Given the description of an element on the screen output the (x, y) to click on. 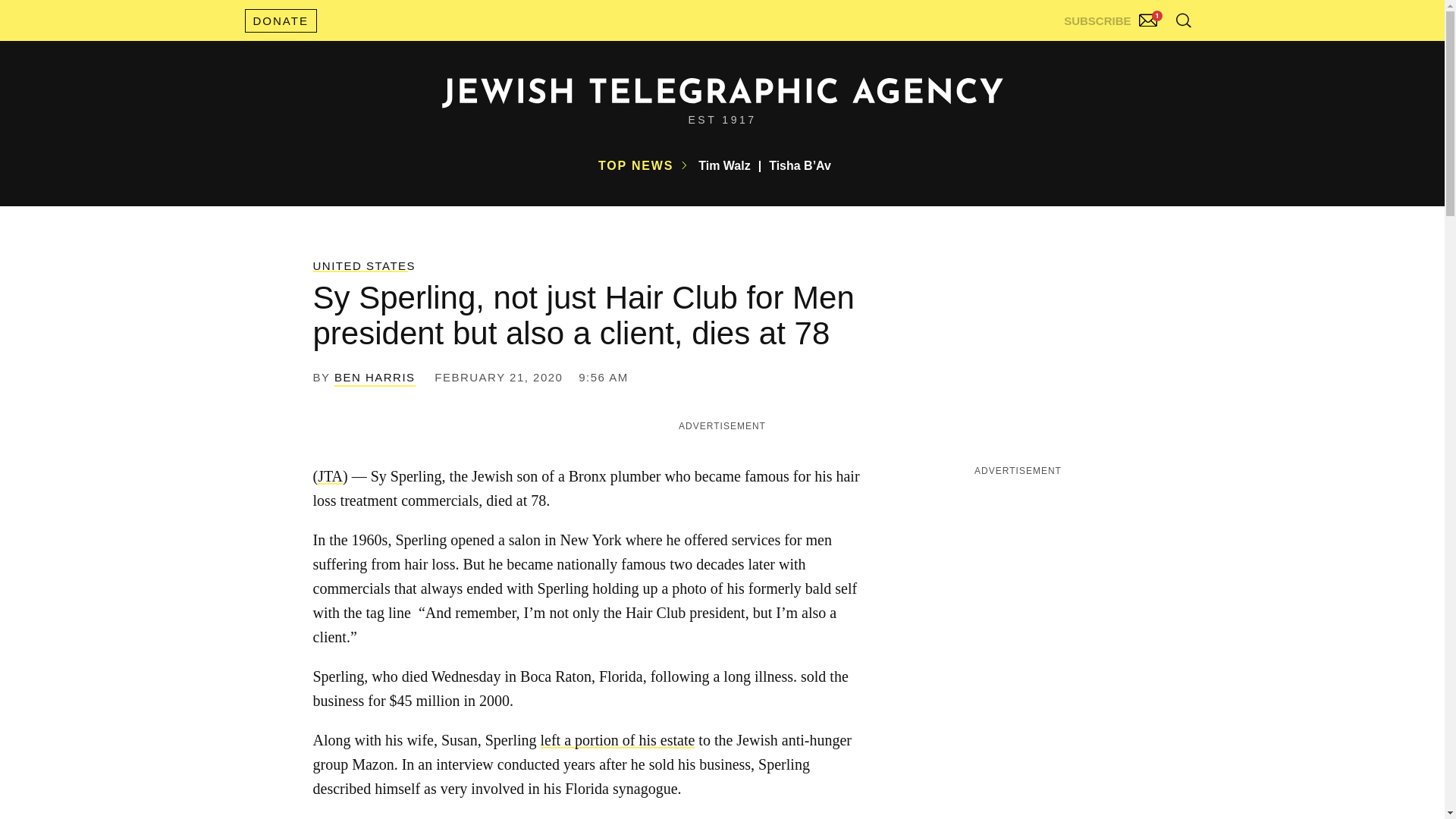
Search (1144, 53)
DONATE (279, 20)
SUBSCRIBE (1112, 17)
SEARCH TOGGLESEARCH TOGGLE (1182, 20)
